Given the description of an element on the screen output the (x, y) to click on. 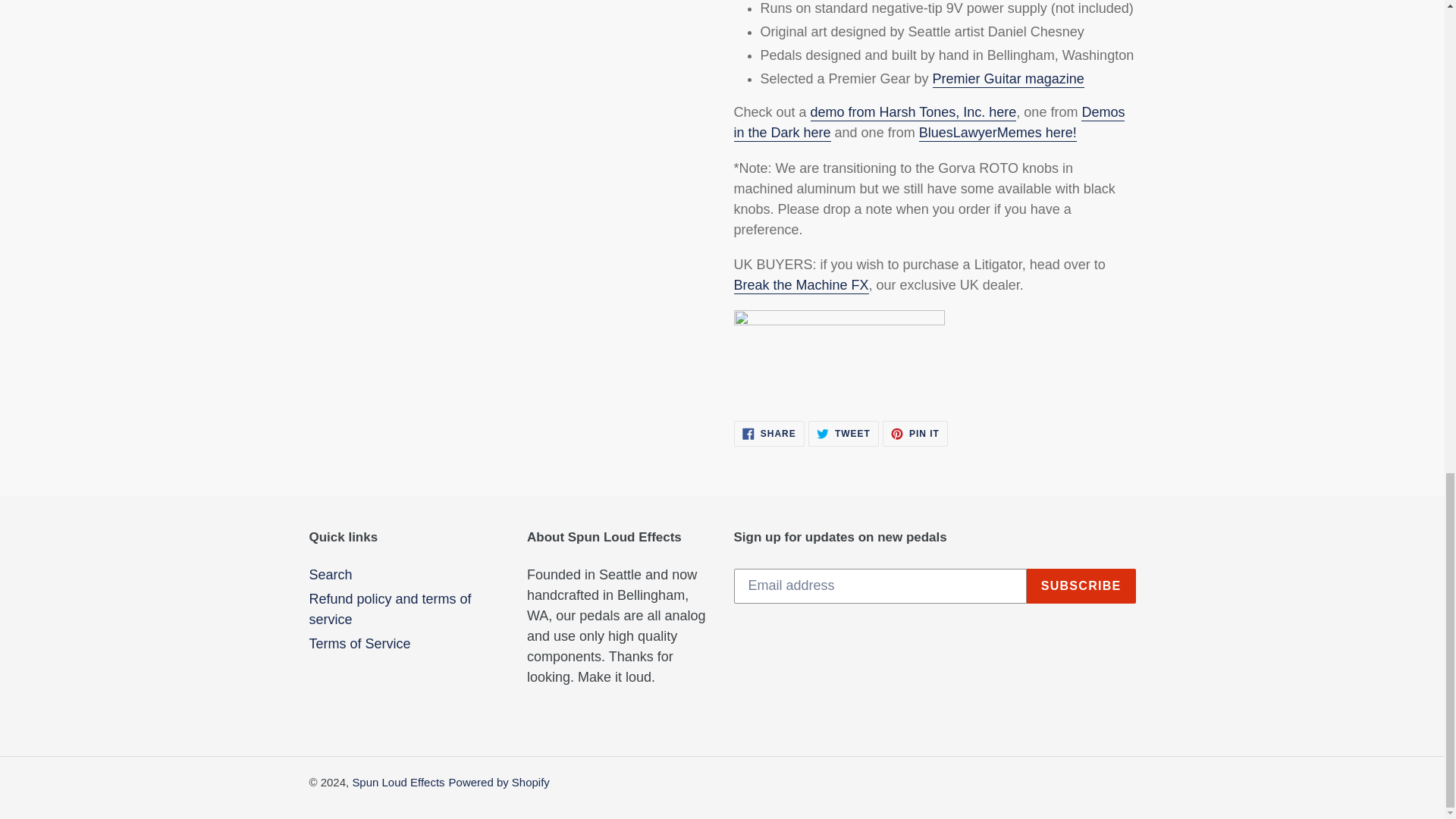
Harsh Tones Litigator demo (913, 112)
Demos in the Dark Litigator Demo (929, 122)
